Given the description of an element on the screen output the (x, y) to click on. 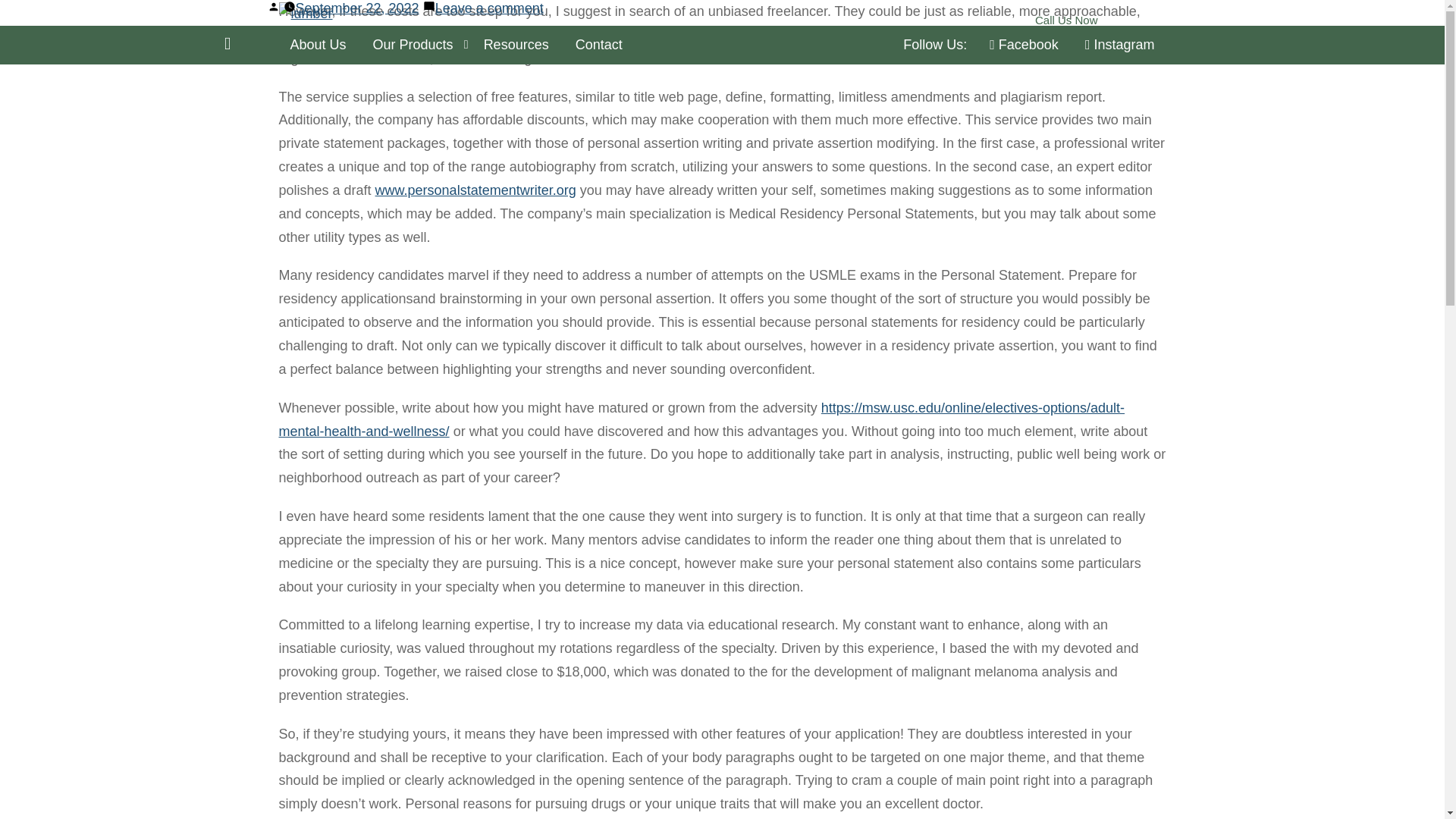
Contact (598, 44)
www.personalstatementwriter.org (475, 190)
Resources (515, 44)
Leave a comment (489, 7)
Instagram (1120, 44)
About Us (318, 44)
Our Products (414, 44)
Facebook (1024, 44)
September 22, 2022 (357, 7)
